Given the description of an element on the screen output the (x, y) to click on. 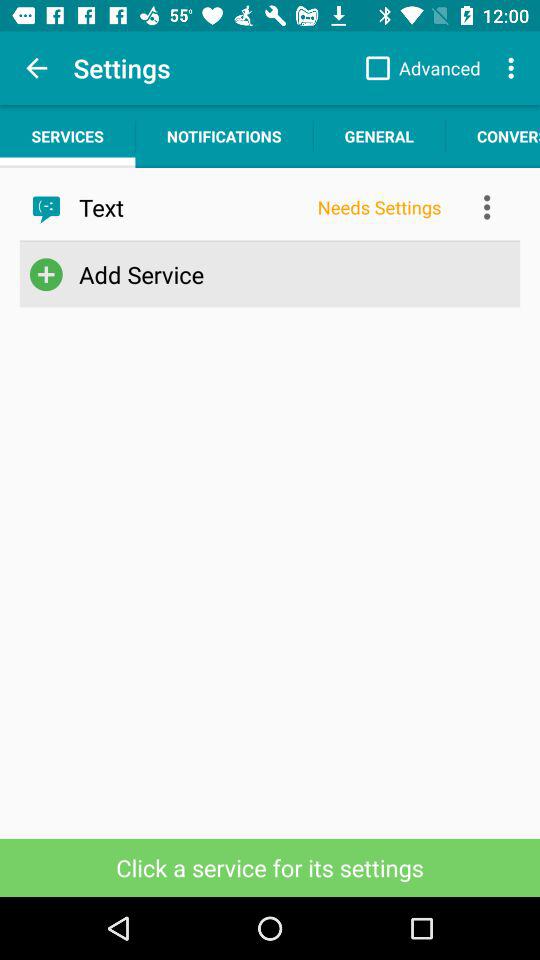
jump to text item (191, 207)
